Given the description of an element on the screen output the (x, y) to click on. 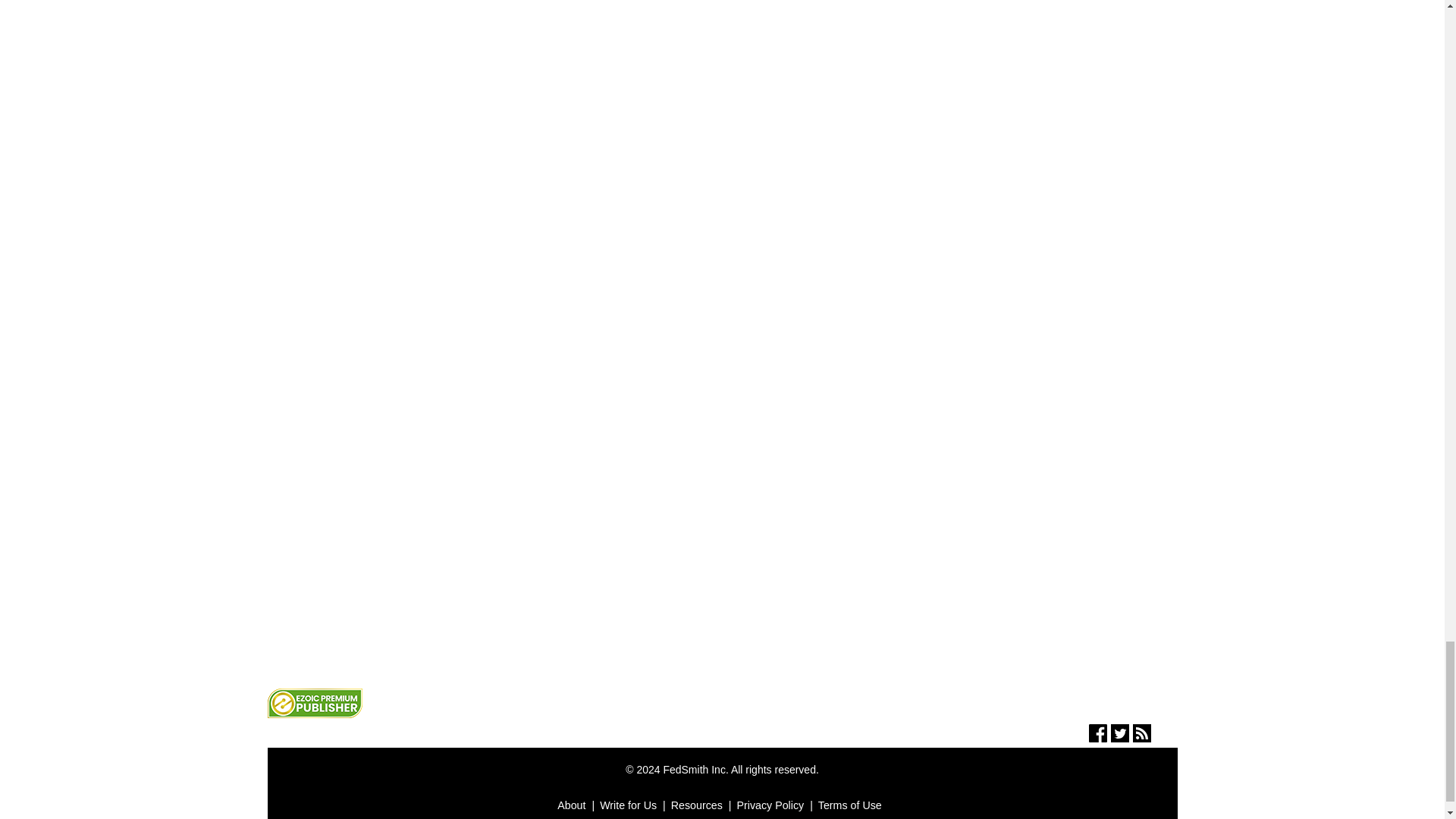
Subscribe to our RSS feed (1141, 737)
Follow FedSmith on Facebook (1097, 737)
